Given the description of an element on the screen output the (x, y) to click on. 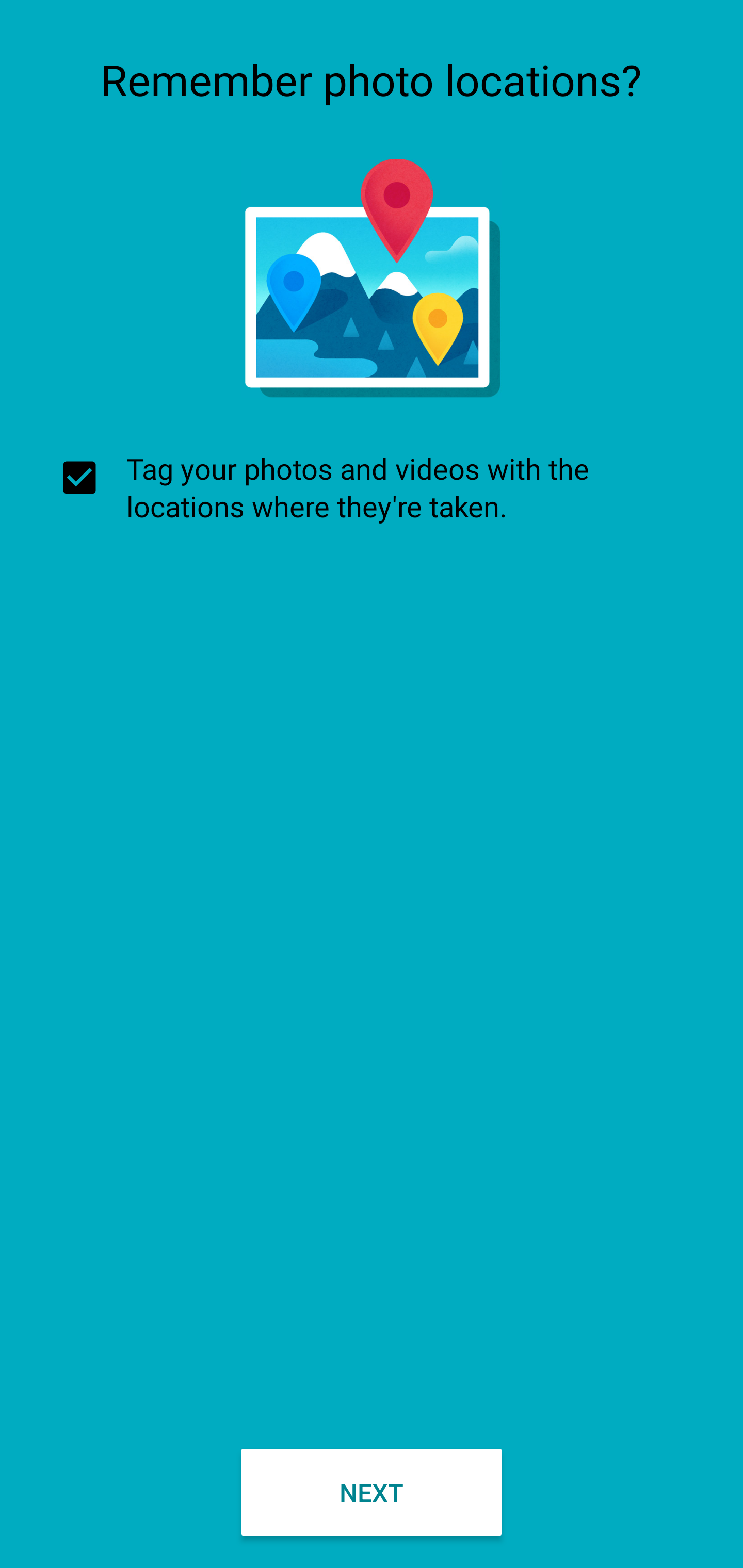
NEXT (371, 1491)
